Given the description of an element on the screen output the (x, y) to click on. 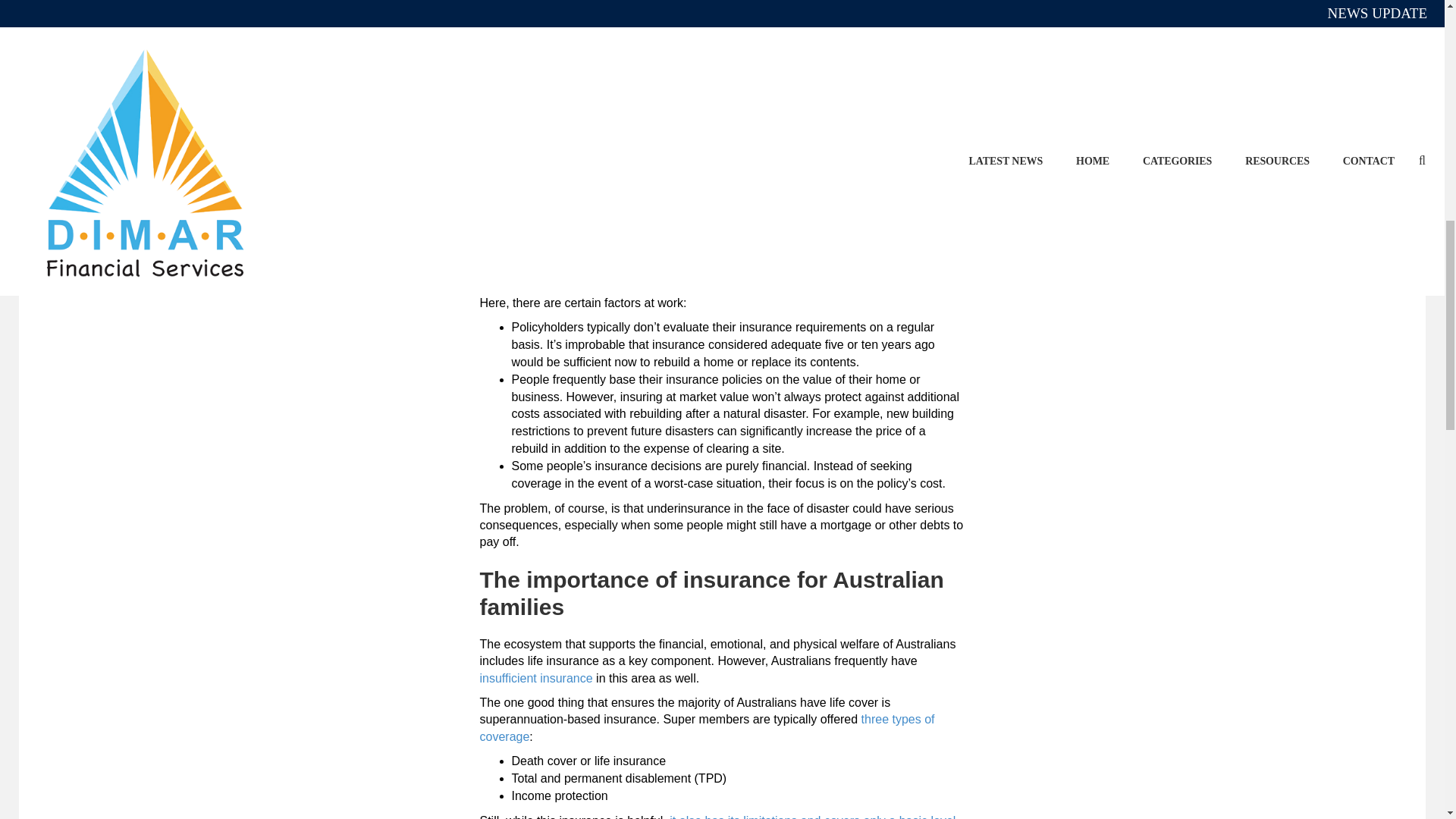
studies (516, 59)
bushfires hit large portions of Eastern Australia (762, 17)
three types of coverage (706, 727)
insufficient insurance (535, 677)
